Given the description of an element on the screen output the (x, y) to click on. 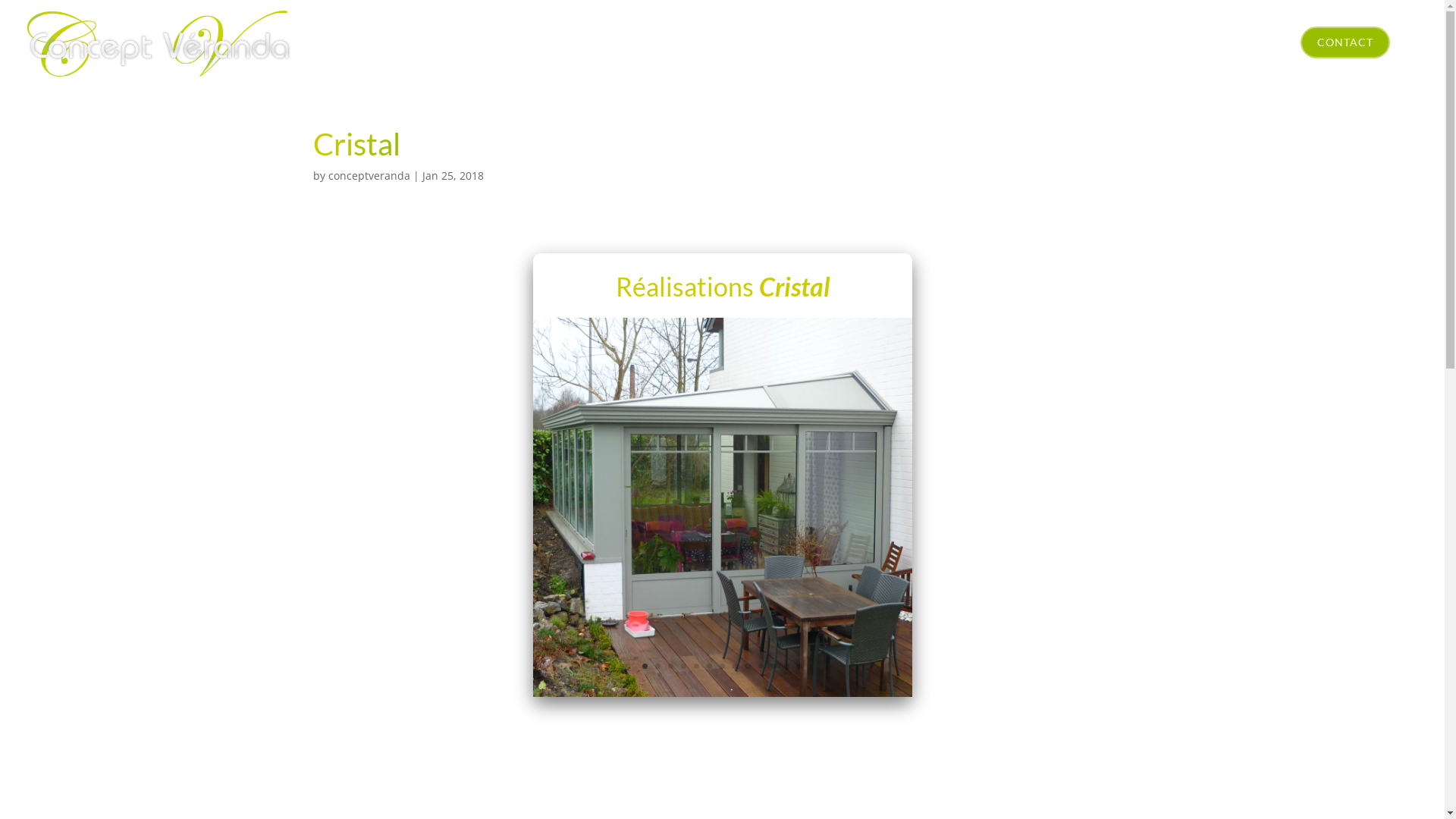
1 Element type: text (644, 665)
11 Element type: text (773, 665)
2 Element type: text (657, 665)
6 Element type: text (709, 665)
10 Element type: text (760, 665)
CONTACT Element type: text (1345, 42)
4 Element type: text (683, 665)
conceptveranda Element type: text (368, 175)
STORES Element type: text (977, 42)
3 Element type: text (670, 665)
13 Element type: text (799, 665)
5 Element type: text (696, 665)
PERGOLAS Element type: text (894, 42)
9 Element type: text (747, 665)
12 Element type: text (786, 665)
8 Element type: text (734, 665)
7 Element type: text (721, 665)
